Given the description of an element on the screen output the (x, y) to click on. 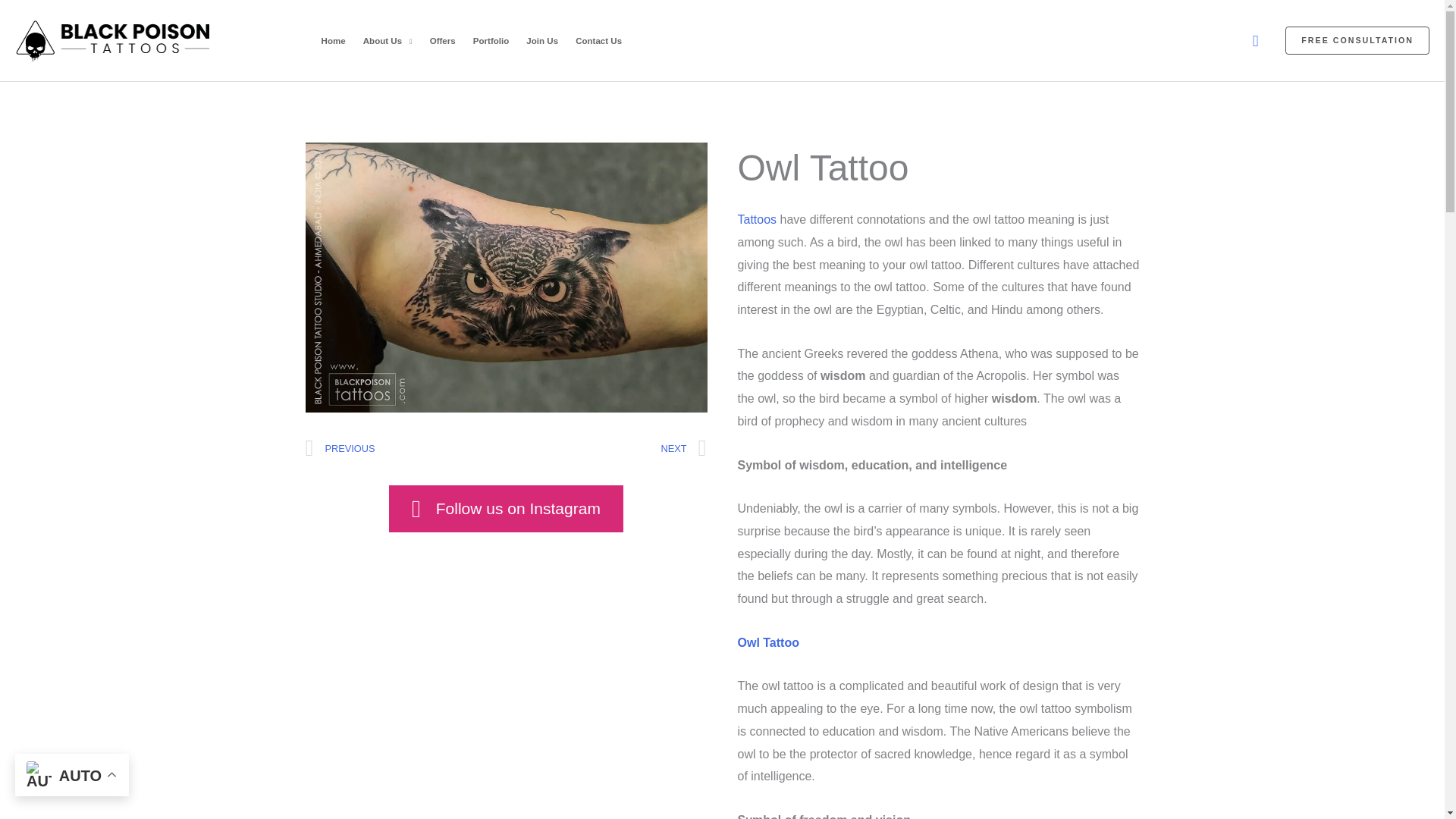
FREE CONSULTATION (1357, 40)
Portfolio (491, 39)
Join Us (542, 39)
About Us (386, 39)
Contact Us (598, 39)
